Given the description of an element on the screen output the (x, y) to click on. 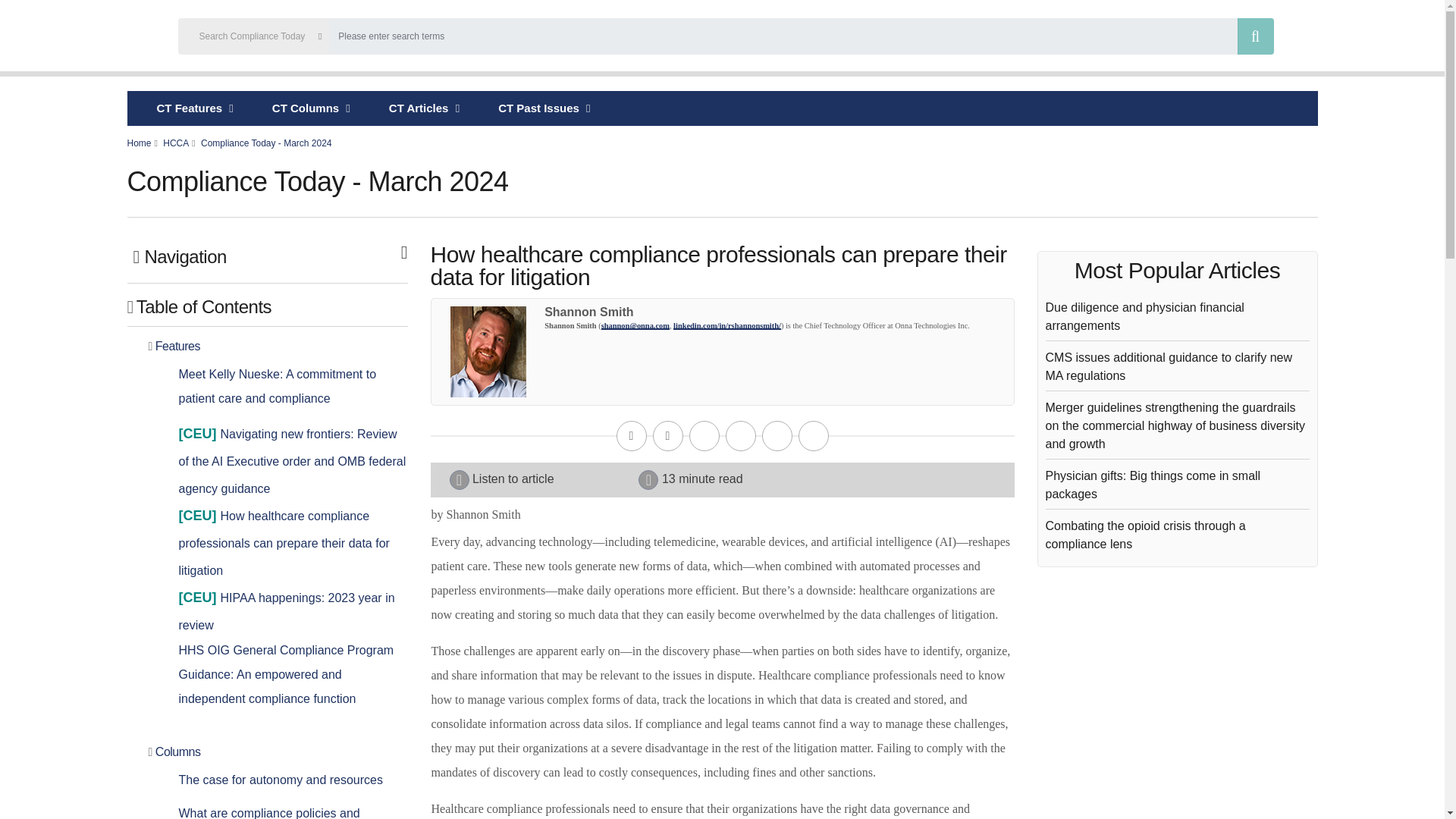
MyCOSMOS (1329, 38)
Home (86, 38)
Enter the terms you wish to search for. (783, 36)
Log in (1380, 38)
Skip to main content (721, 1)
Search Compliance Today (726, 38)
Share to Facebook (703, 435)
Search (1255, 36)
